Given the description of an element on the screen output the (x, y) to click on. 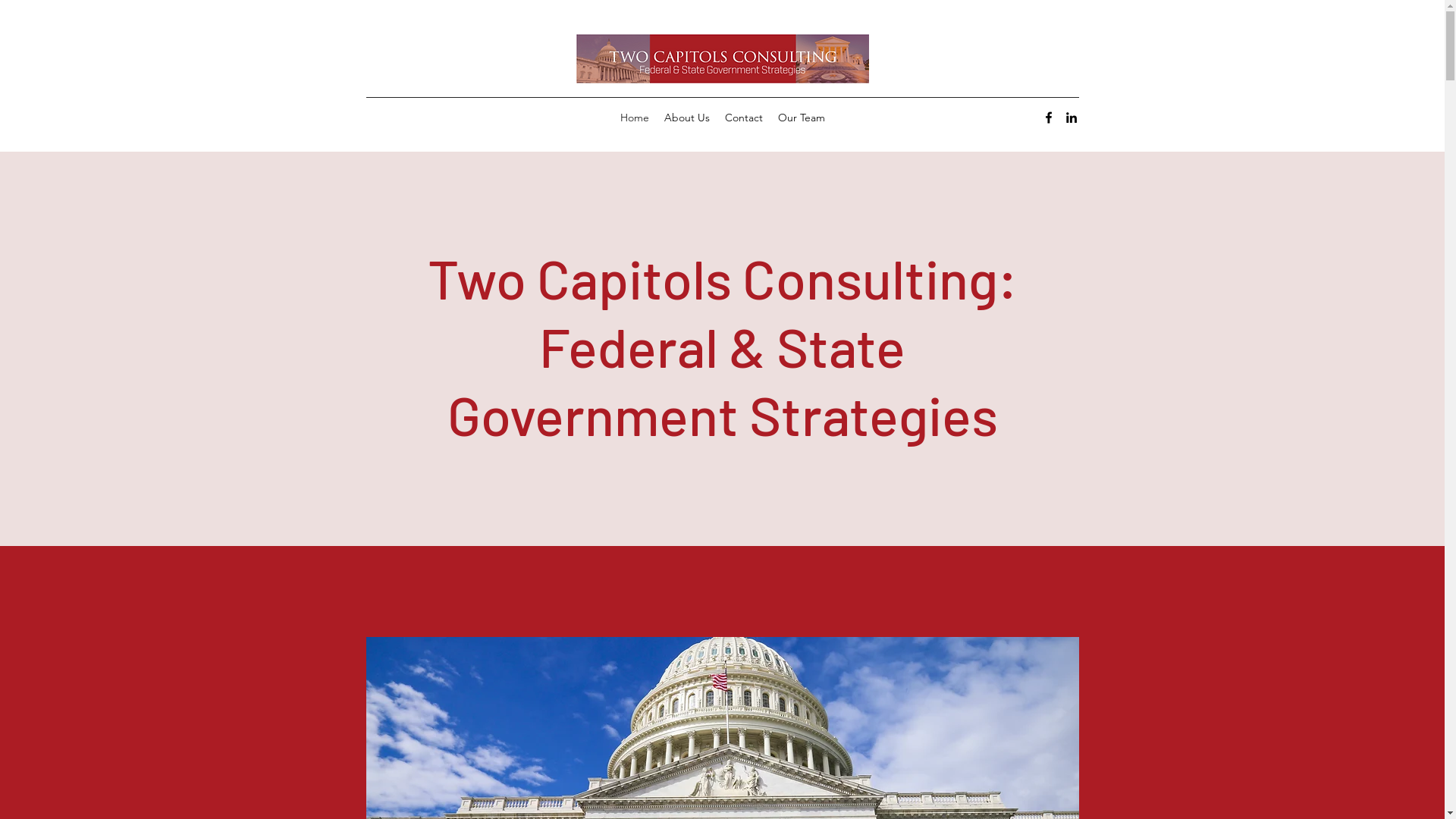
Home Element type: text (634, 117)
Our Team Element type: text (801, 117)
About Us Element type: text (686, 117)
Contact Element type: text (743, 117)
